Given the description of an element on the screen output the (x, y) to click on. 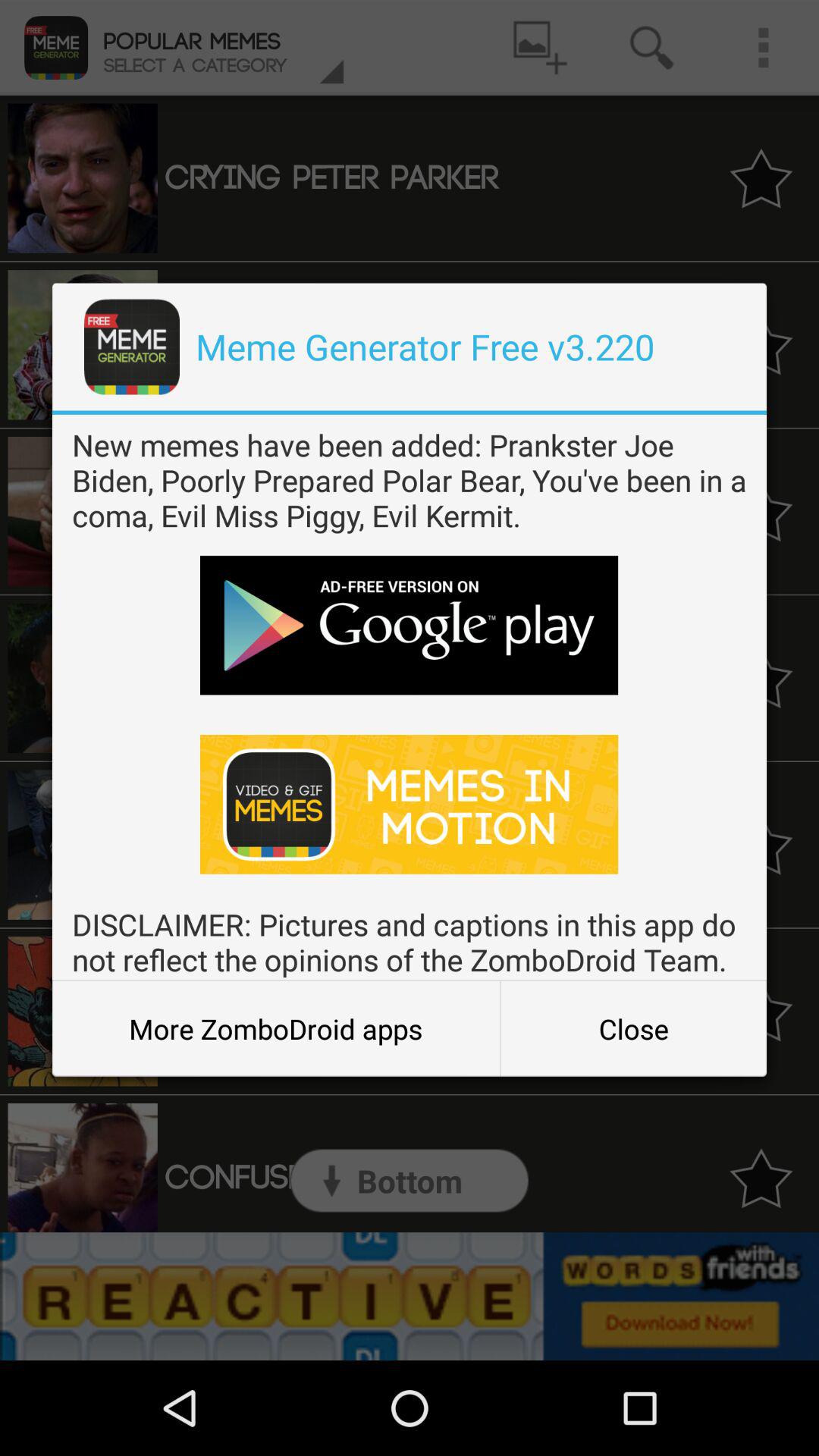
swipe until close (633, 1028)
